Given the description of an element on the screen output the (x, y) to click on. 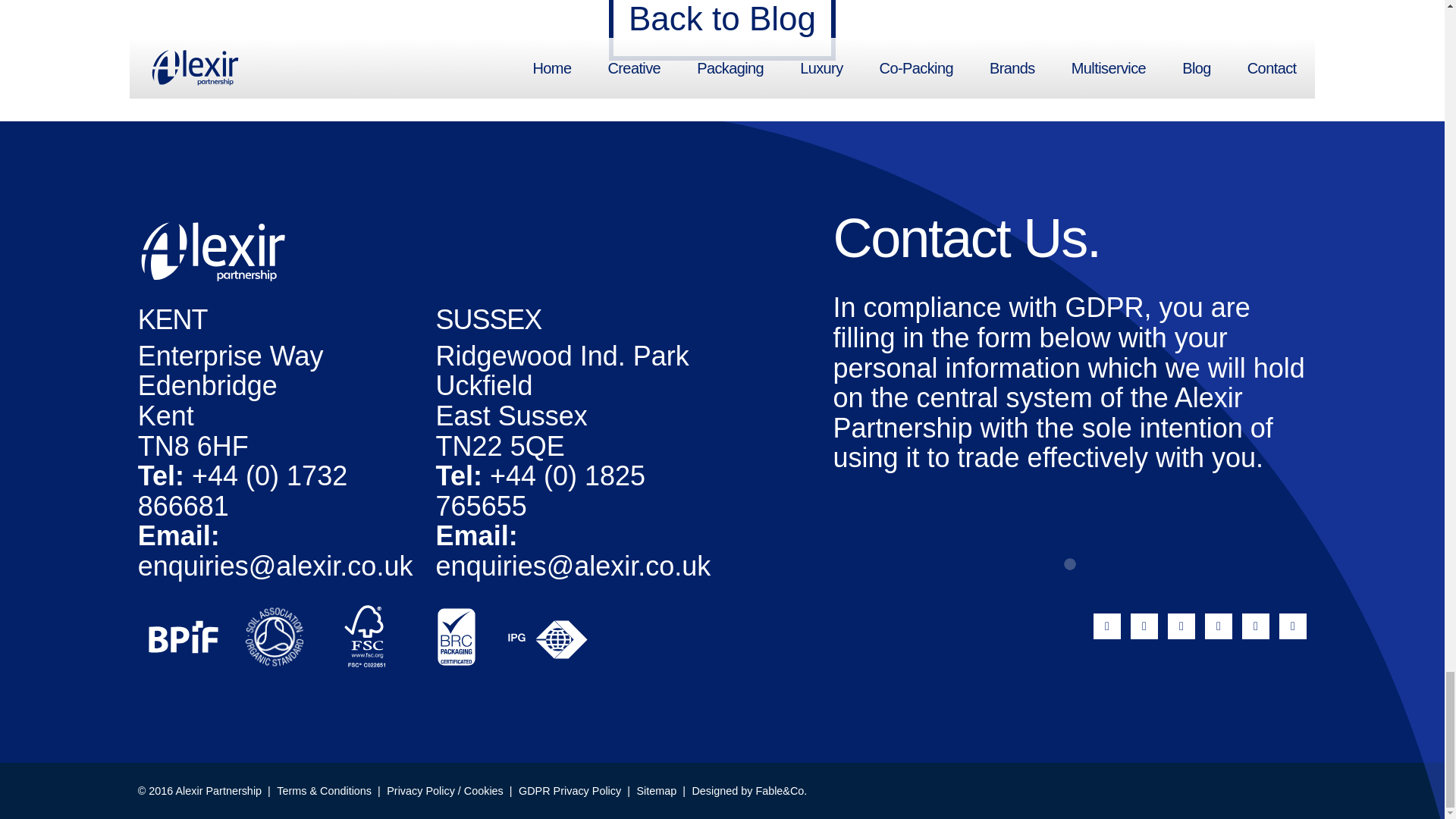
Sitemap (656, 790)
GDPR Privacy Policy (569, 790)
Back to Blog (721, 32)
